Given the description of an element on the screen output the (x, y) to click on. 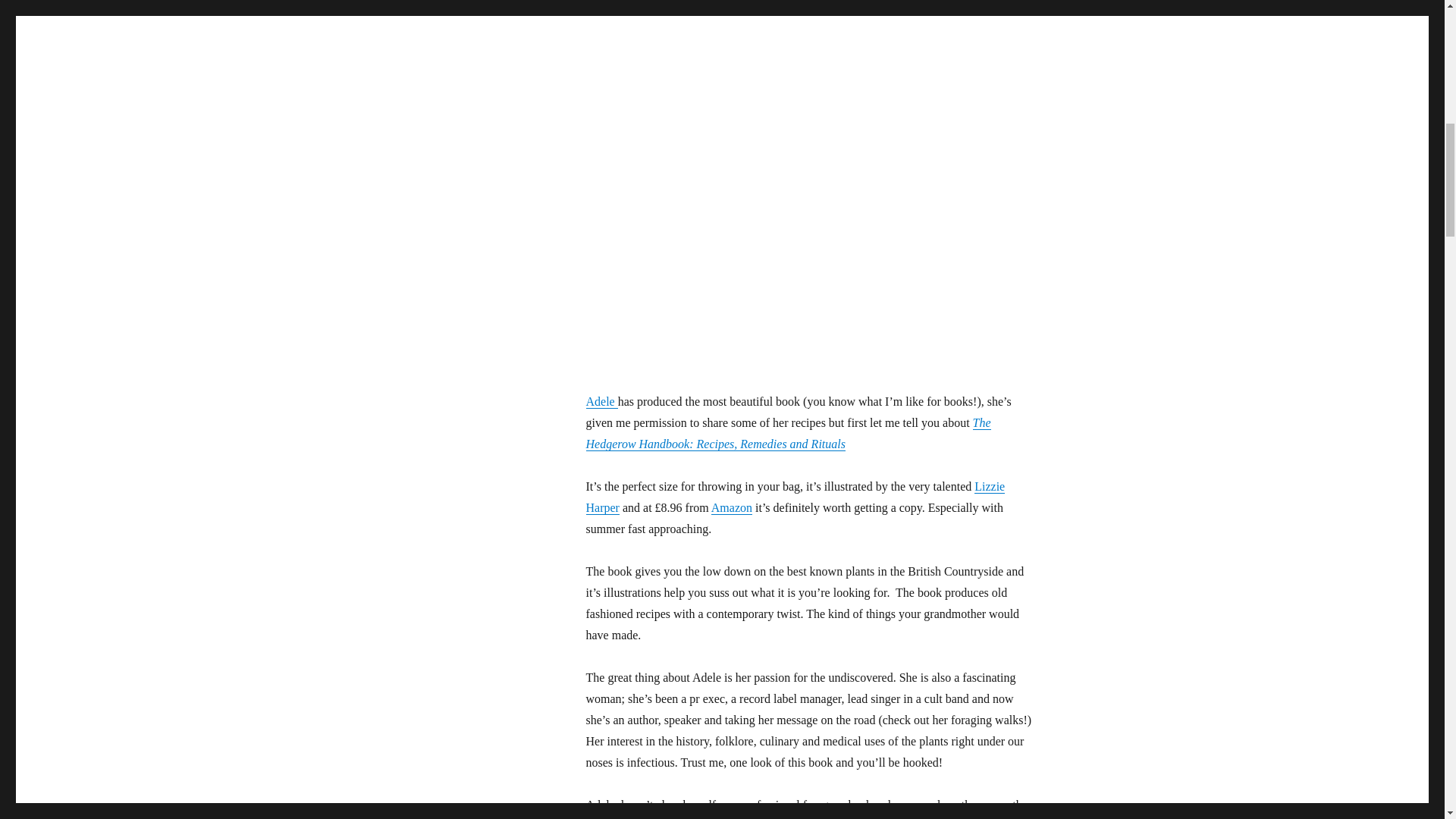
Lizzie Harper (794, 496)
Amazon (731, 507)
Adele (601, 400)
The Hedgerow Handbook: Recipes, Remedies and Rituals (787, 433)
